Given the description of an element on the screen output the (x, y) to click on. 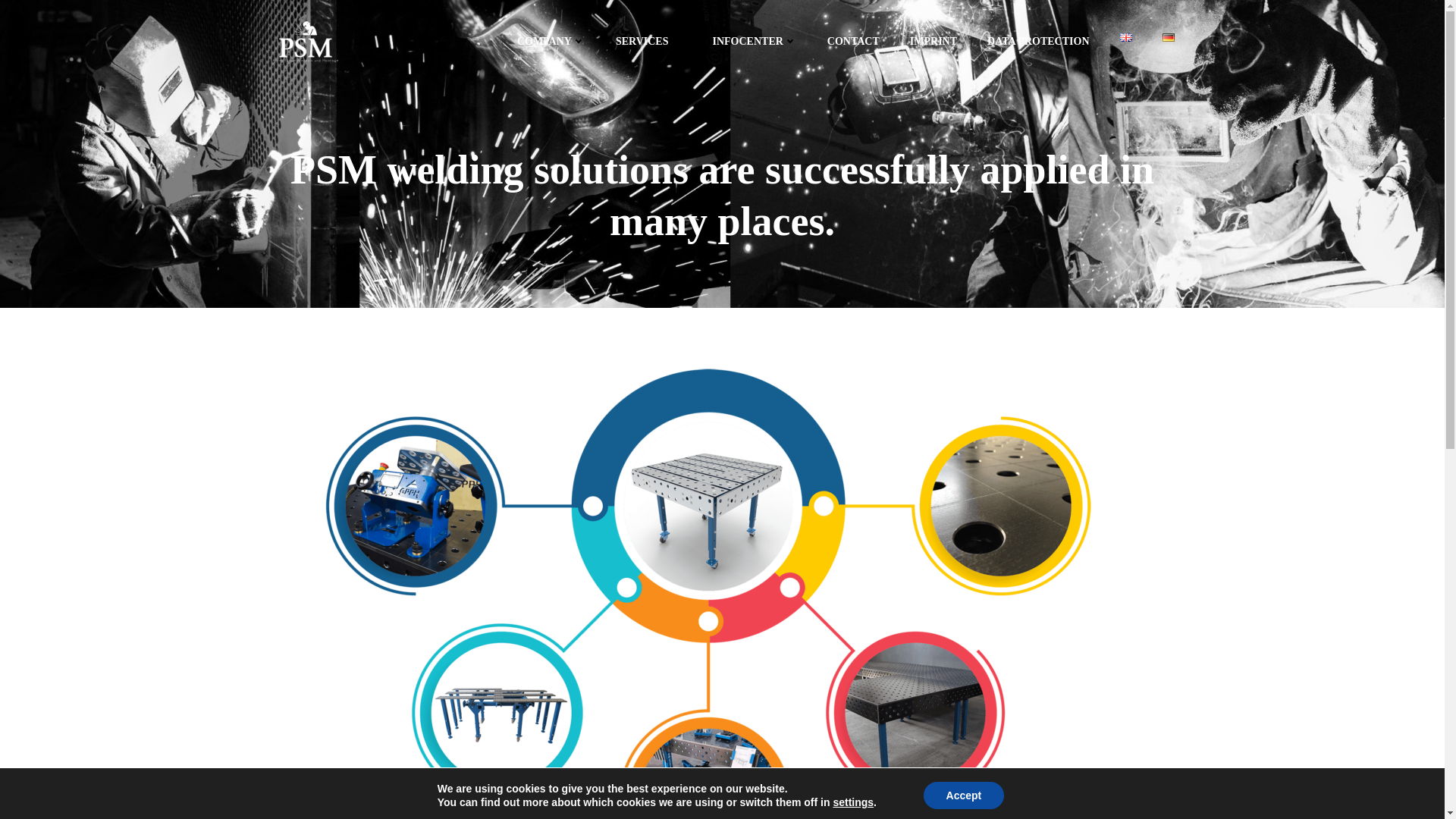
COMPANY (550, 41)
CONTACT (853, 41)
IMPRINT (933, 41)
DATA PROTECTION (1038, 41)
Accept (963, 795)
SERVICES (648, 41)
INFOCENTER (753, 41)
